Given the description of an element on the screen output the (x, y) to click on. 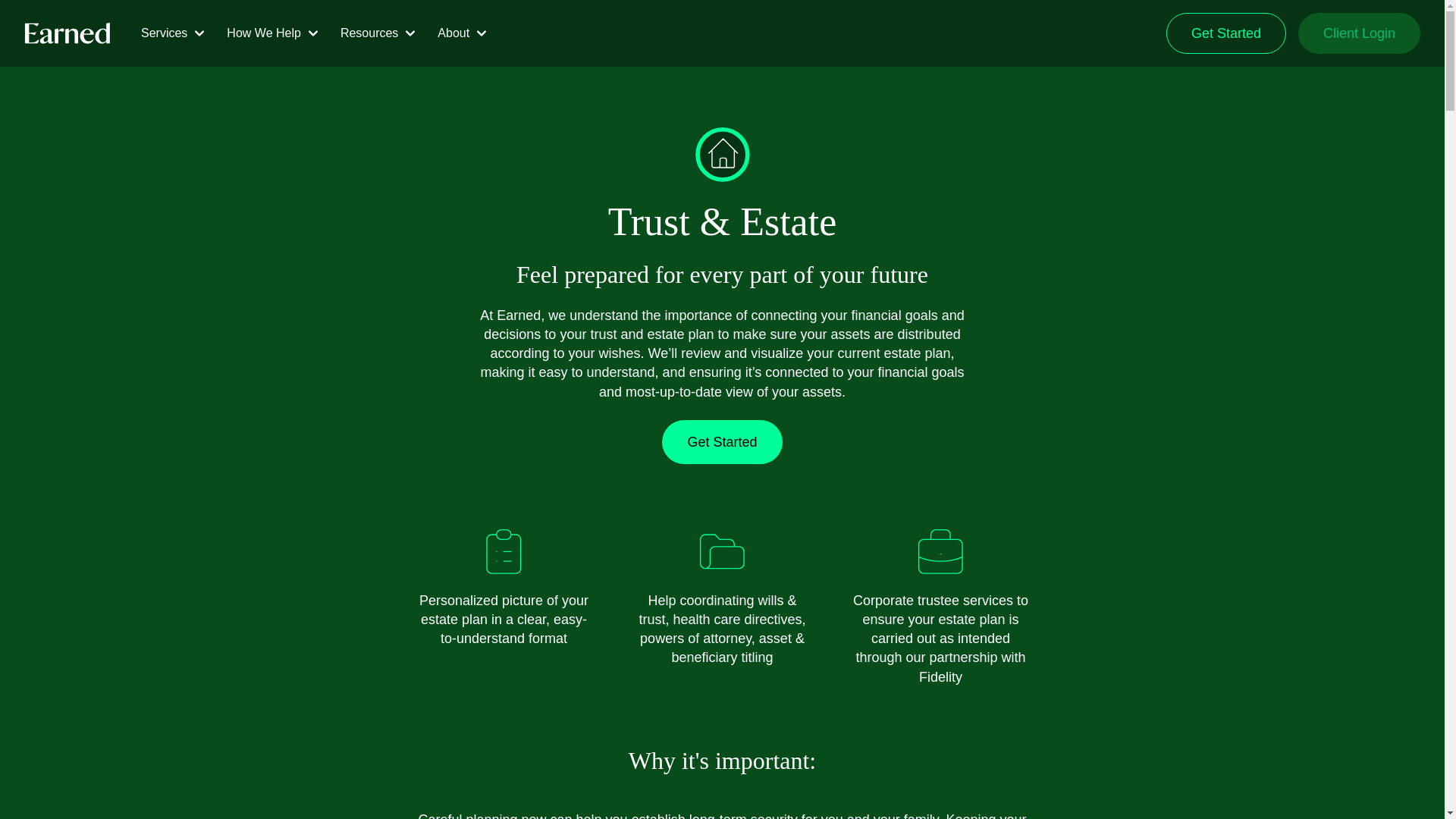
Get Started (1225, 33)
Get Started (721, 442)
Client Login (1359, 33)
